Given the description of an element on the screen output the (x, y) to click on. 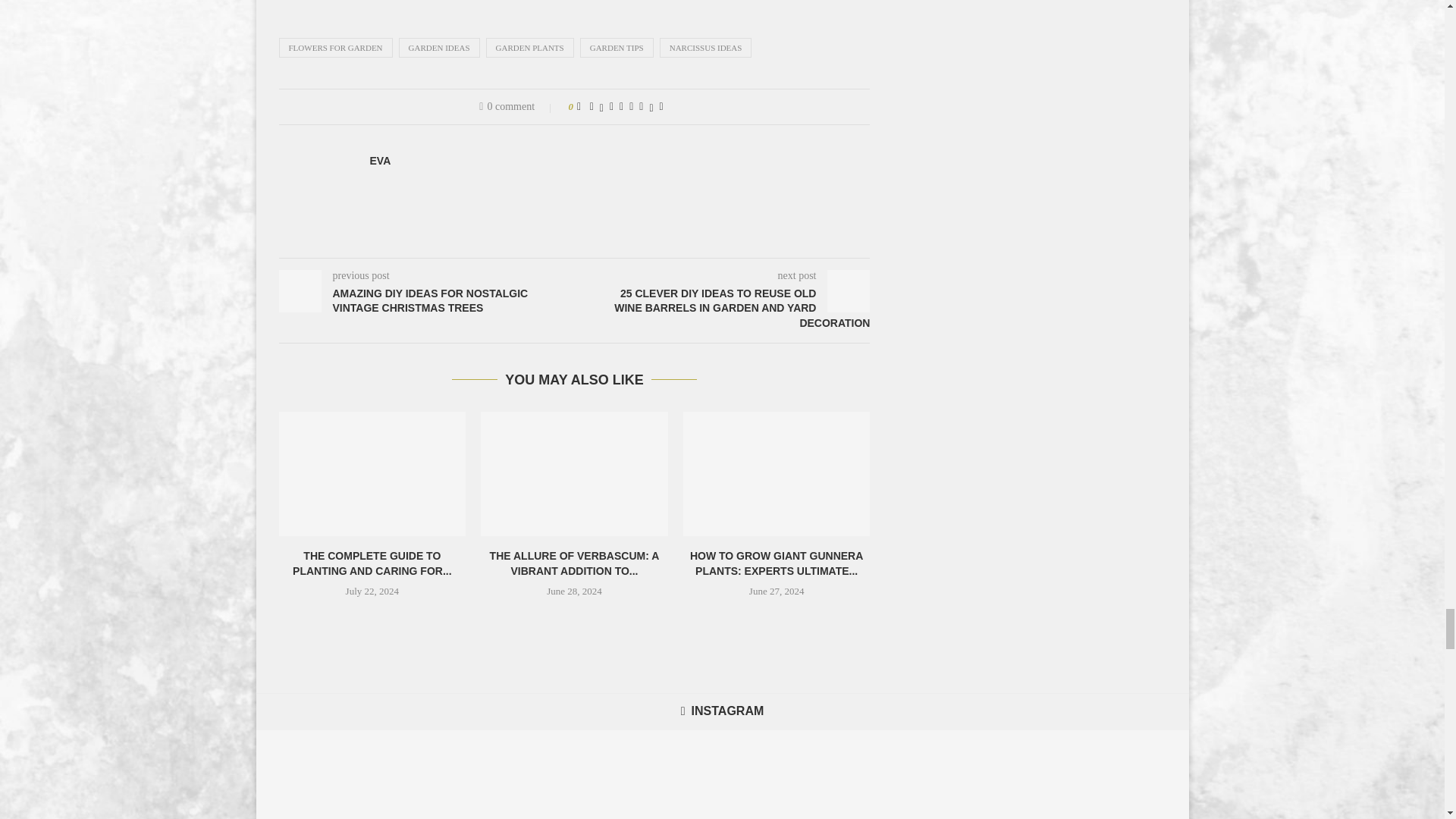
Author Eva (380, 160)
The Complete Guide to Planting and Caring for Nemesia (372, 473)
The Allure of Verbascum: A Vibrant Addition to Your Garden (574, 473)
How to Grow Giant Gunnera Plants: Experts Ultimate Top Tips (776, 473)
